Given the description of an element on the screen output the (x, y) to click on. 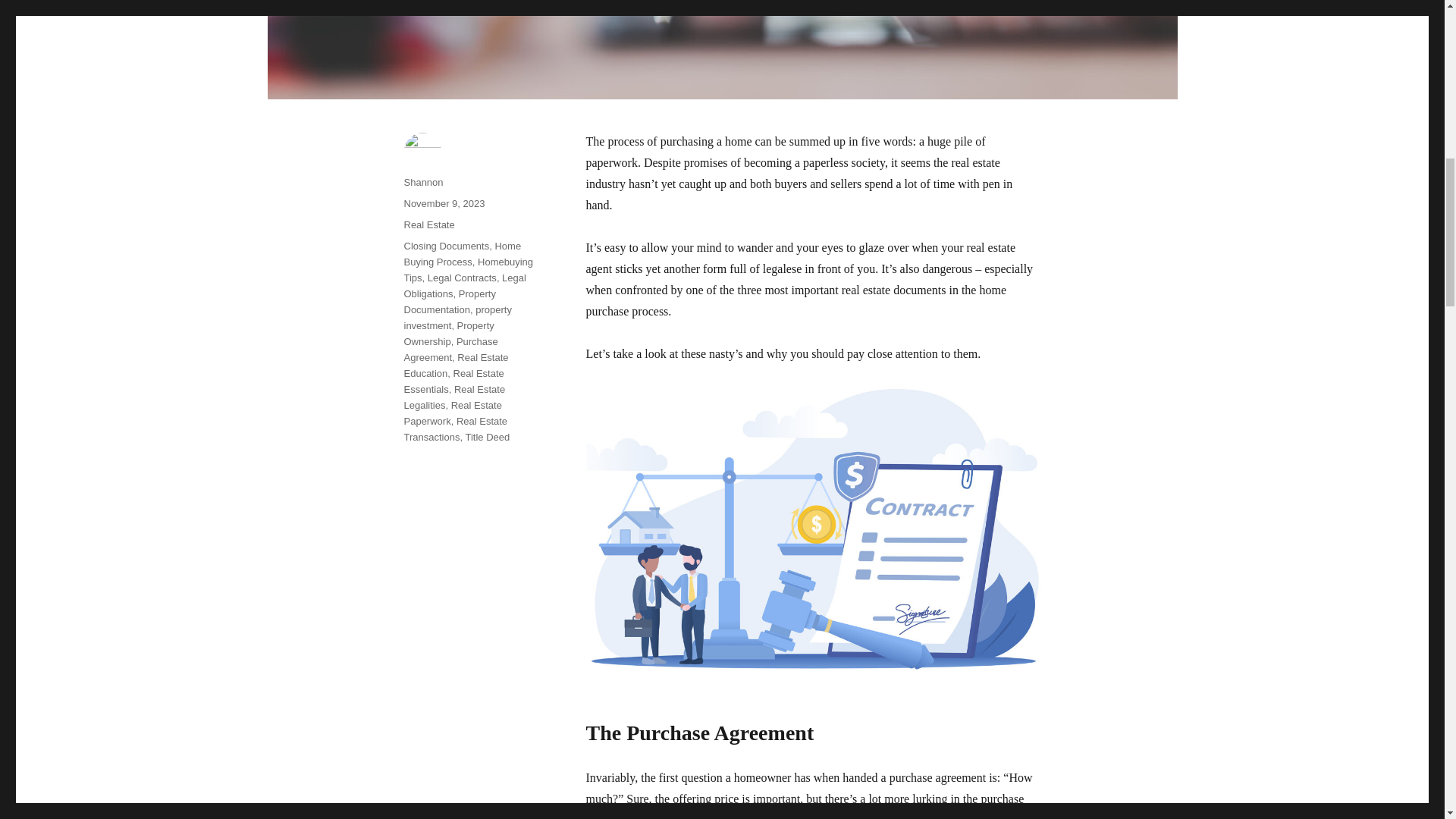
Real Estate Essentials (453, 380)
Purchase Agreement (450, 349)
Real Estate (428, 224)
property investment (457, 317)
Property Documentation (449, 301)
Homebuying Tips (467, 269)
Legal Contracts (462, 277)
Real Estate Education (455, 365)
Legal Obligations (464, 285)
Closing Documents (446, 245)
Real Estate Paperwork (451, 412)
November 9, 2023 (443, 203)
Real Estate Transactions (454, 429)
Real Estate Legalities (454, 397)
Home Buying Process (462, 253)
